Given the description of an element on the screen output the (x, y) to click on. 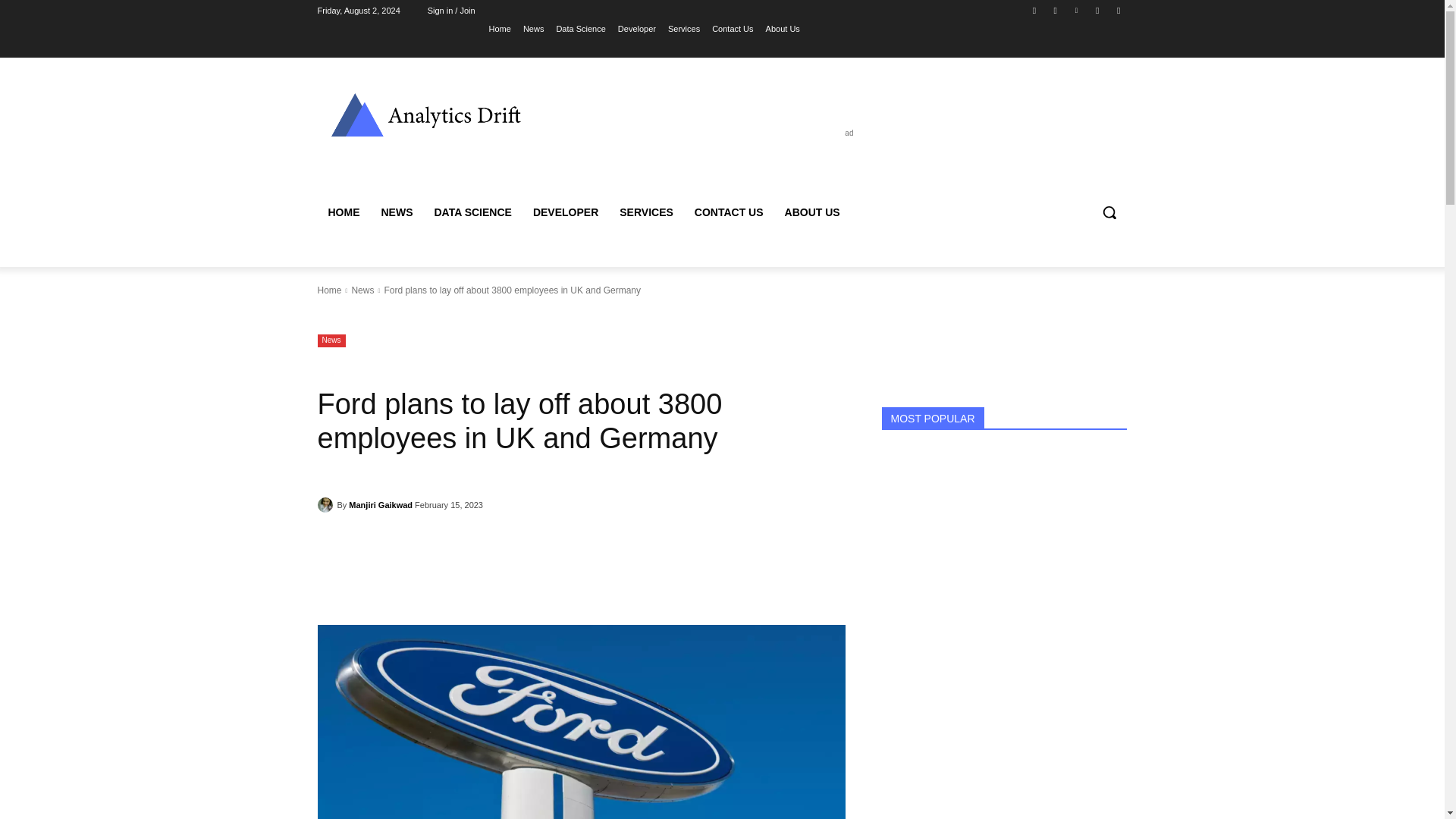
Contact Us (731, 28)
AI Portal (425, 114)
DEVELOPER (565, 212)
Data Science (580, 28)
News (331, 340)
Home (328, 290)
About Us (782, 28)
NEWS (396, 212)
Home (500, 28)
Linkedin (1075, 9)
HOME (343, 212)
Telegram (1097, 9)
ABOUT US (812, 212)
SERVICES (646, 212)
News (362, 290)
